Given the description of an element on the screen output the (x, y) to click on. 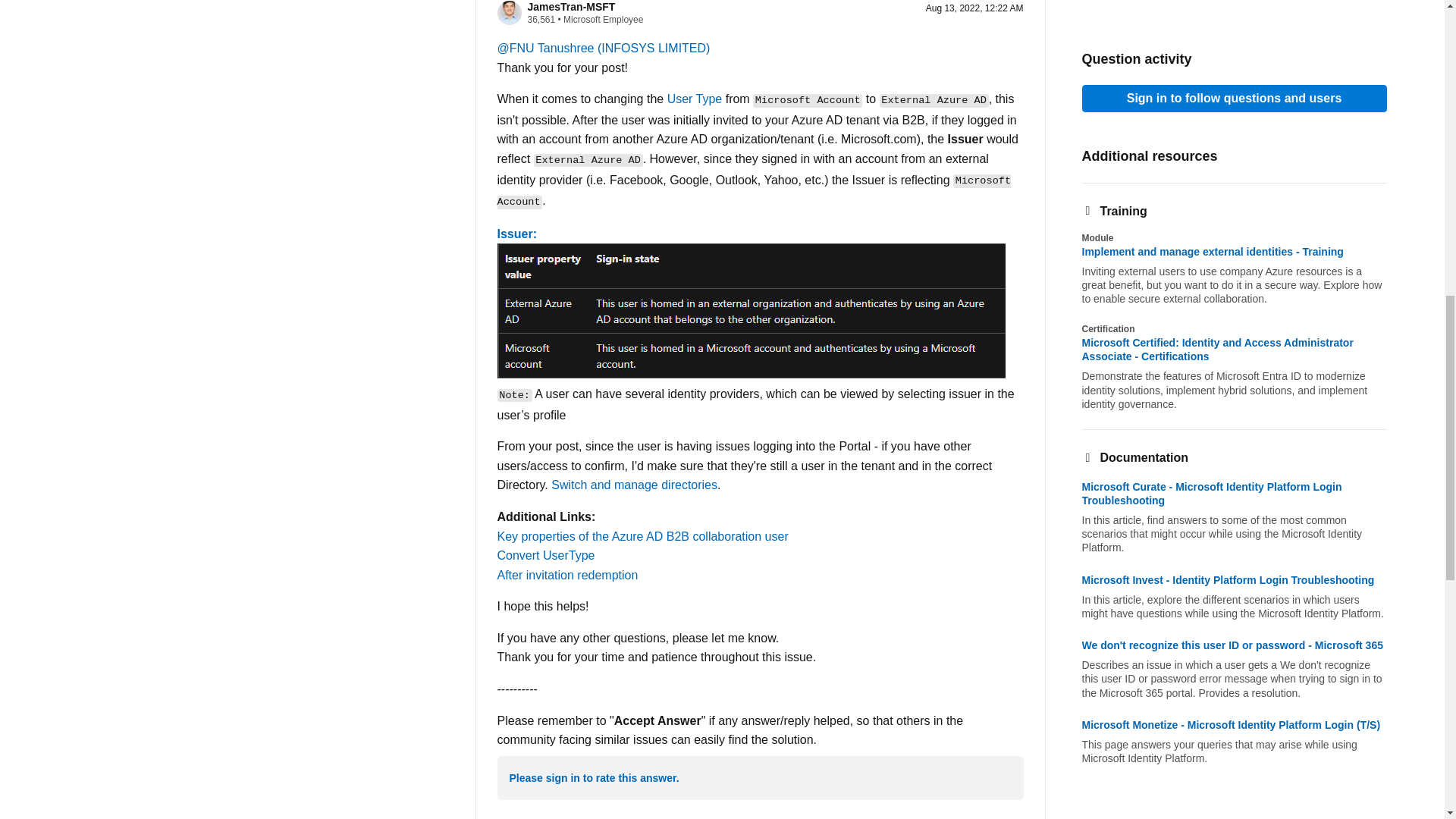
Report a concern (654, 815)
Reputation points (541, 19)
Show comments for this answer (542, 815)
